Given the description of an element on the screen output the (x, y) to click on. 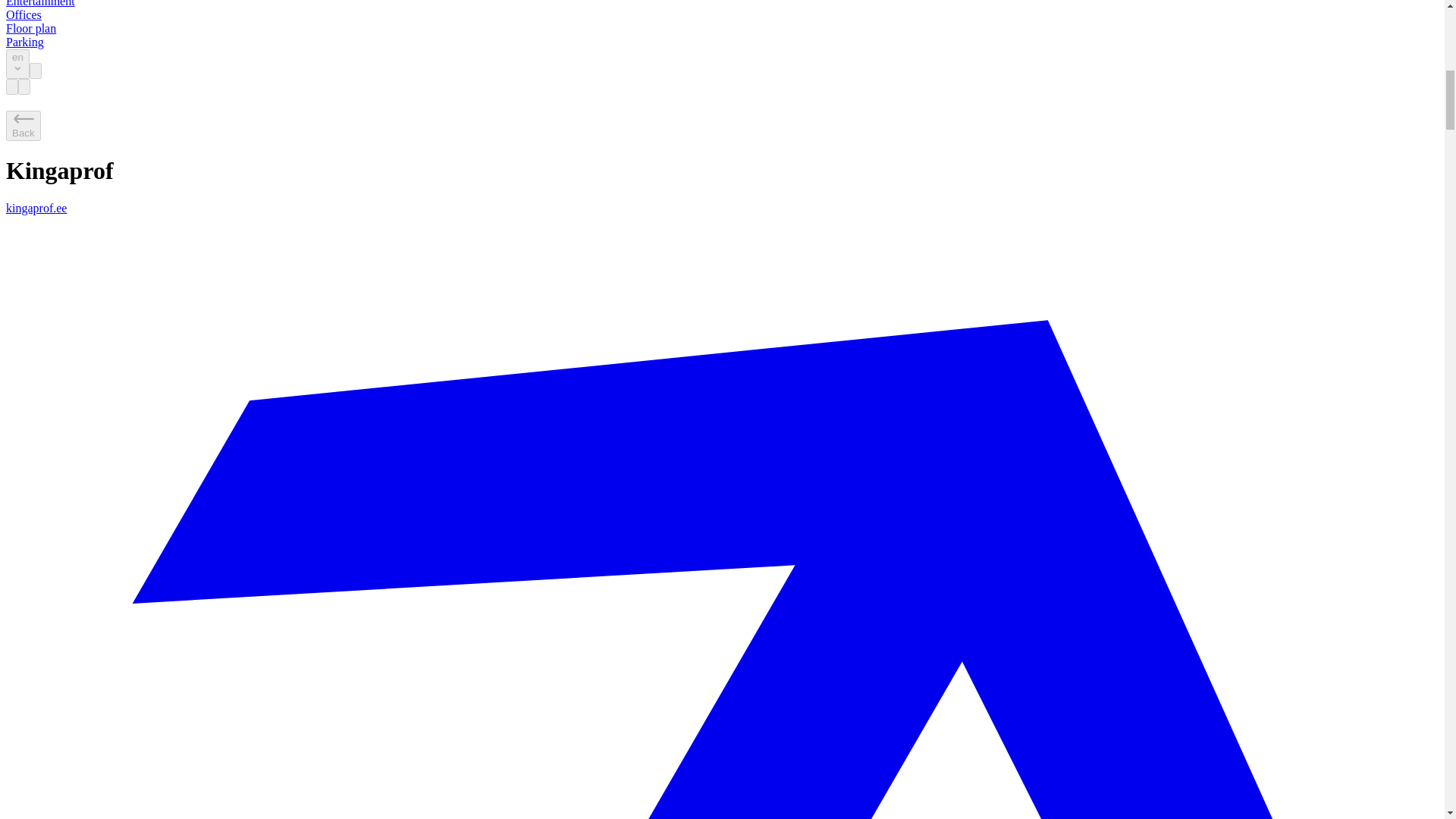
Offices (23, 14)
Back (22, 125)
Parking (24, 42)
Floor plan (30, 28)
Entertainment (40, 3)
